Given the description of an element on the screen output the (x, y) to click on. 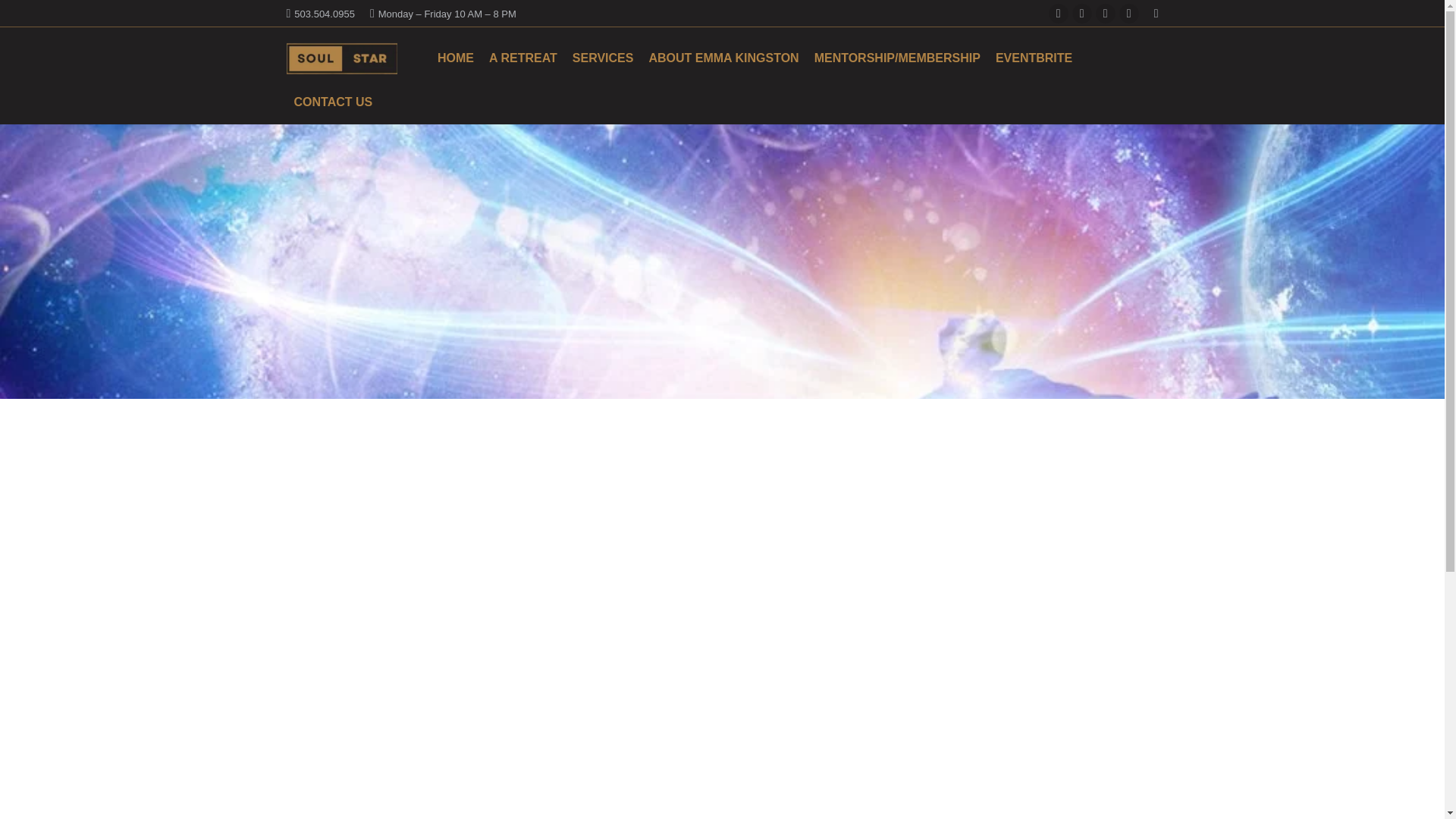
YouTube page opens in new window (1128, 13)
Go! (24, 16)
Twitter page opens in new window (1081, 13)
Twitter page opens in new window (1081, 13)
HOME (455, 56)
SERVICES (603, 56)
Facebook page opens in new window (1058, 13)
A RETREAT (523, 56)
YouTube page opens in new window (1128, 13)
Facebook page opens in new window (1058, 13)
ABOUT EMMA KINGSTON (723, 56)
CONTACT US (333, 101)
EVENTBRITE (1033, 56)
Instagram page opens in new window (1105, 13)
Instagram page opens in new window (1105, 13)
